Given the description of an element on the screen output the (x, y) to click on. 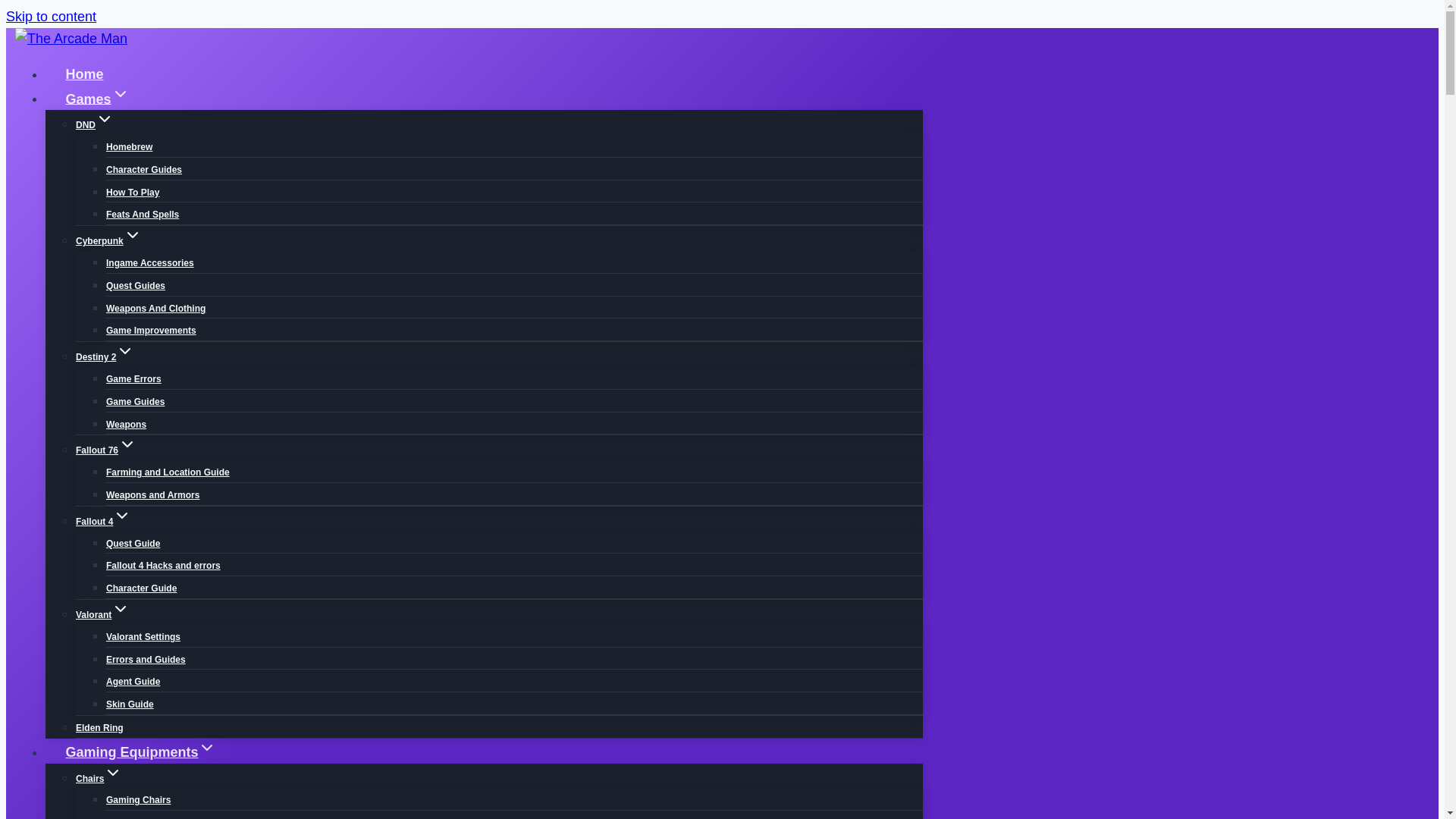
Expand (126, 443)
Fallout 4 Hacks and errors (163, 565)
How To Play (132, 192)
Gaming Chairs (138, 799)
Weapons And Clothing (155, 308)
CyberpunkExpand (108, 240)
Skin Guide (130, 704)
Expand (104, 118)
Expand (120, 608)
Expand (119, 94)
